Given the description of an element on the screen output the (x, y) to click on. 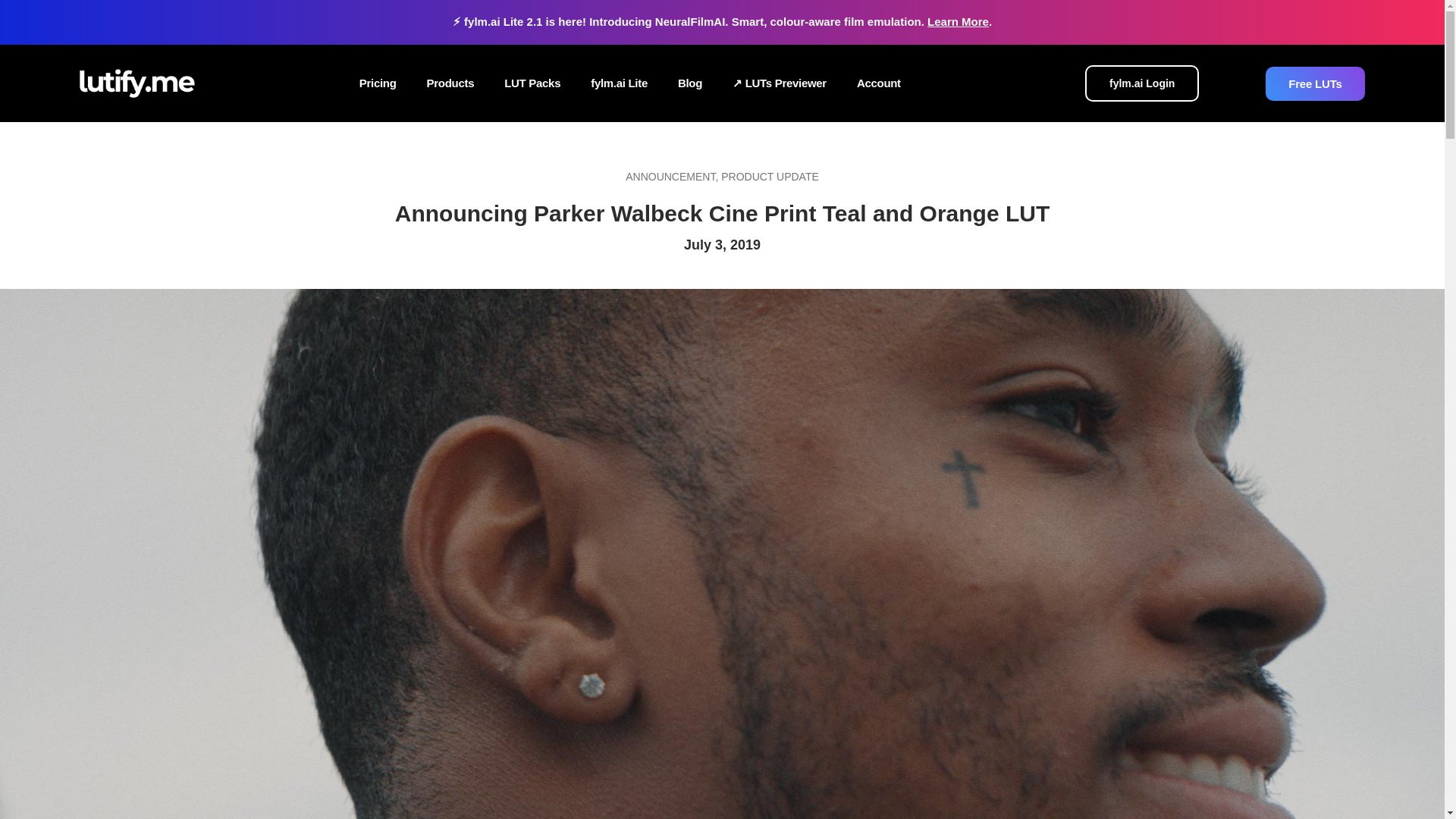
Account (878, 83)
ANNOUNCEMENT (670, 176)
PRODUCT UPDATE (769, 176)
Products (450, 83)
LUT Packs (532, 83)
fylm.ai Login (1141, 83)
Free LUTs (1314, 72)
Learn More (957, 21)
Pricing (377, 83)
fylm.ai Lite (618, 83)
